Given the description of an element on the screen output the (x, y) to click on. 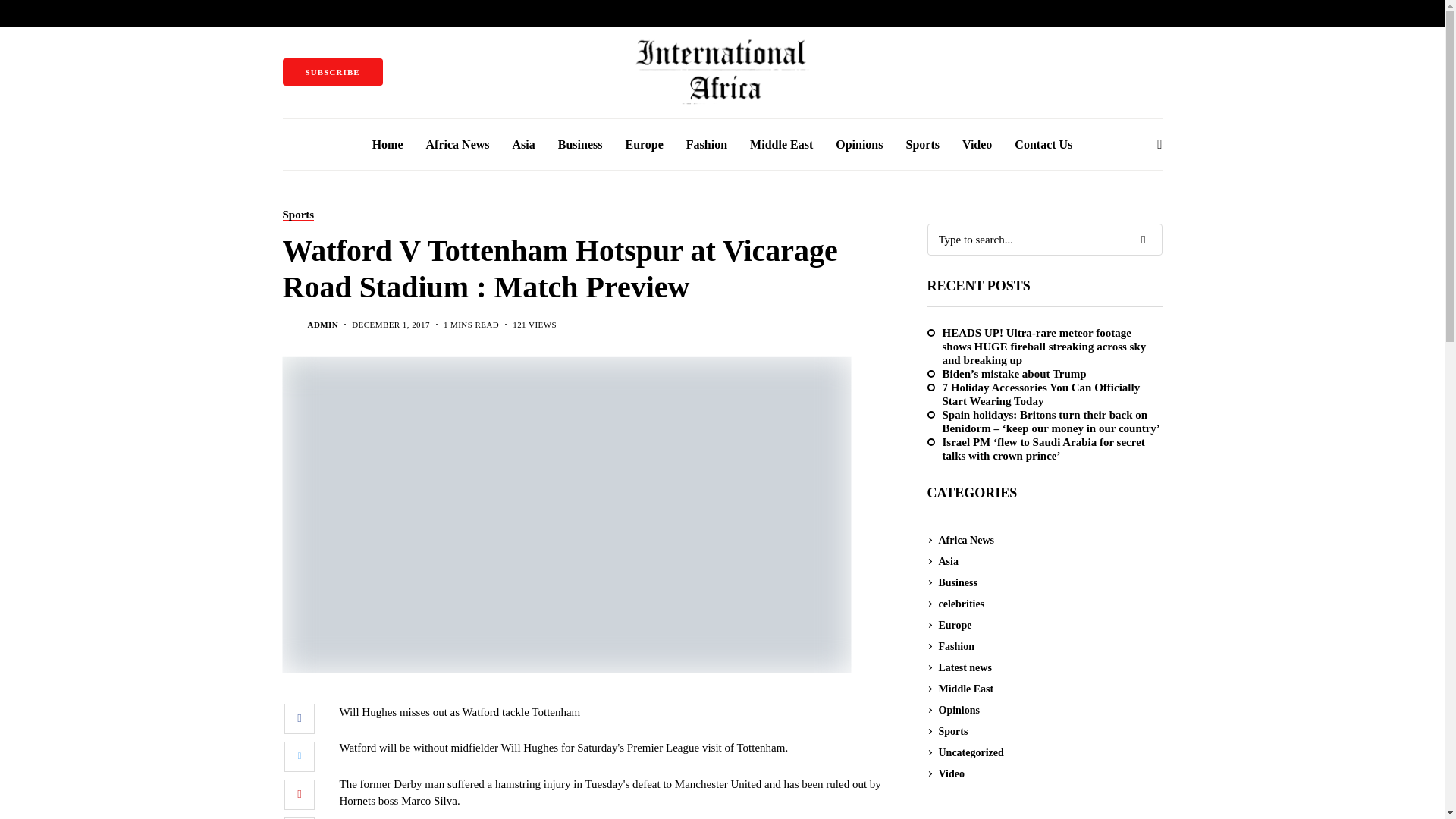
Middle East (780, 143)
SUBSCRIBE (331, 71)
Contact Us (1042, 143)
Opinions (858, 143)
Africa News (457, 143)
Posts by admin (323, 325)
ADMIN (323, 325)
Sports (298, 214)
